Given the description of an element on the screen output the (x, y) to click on. 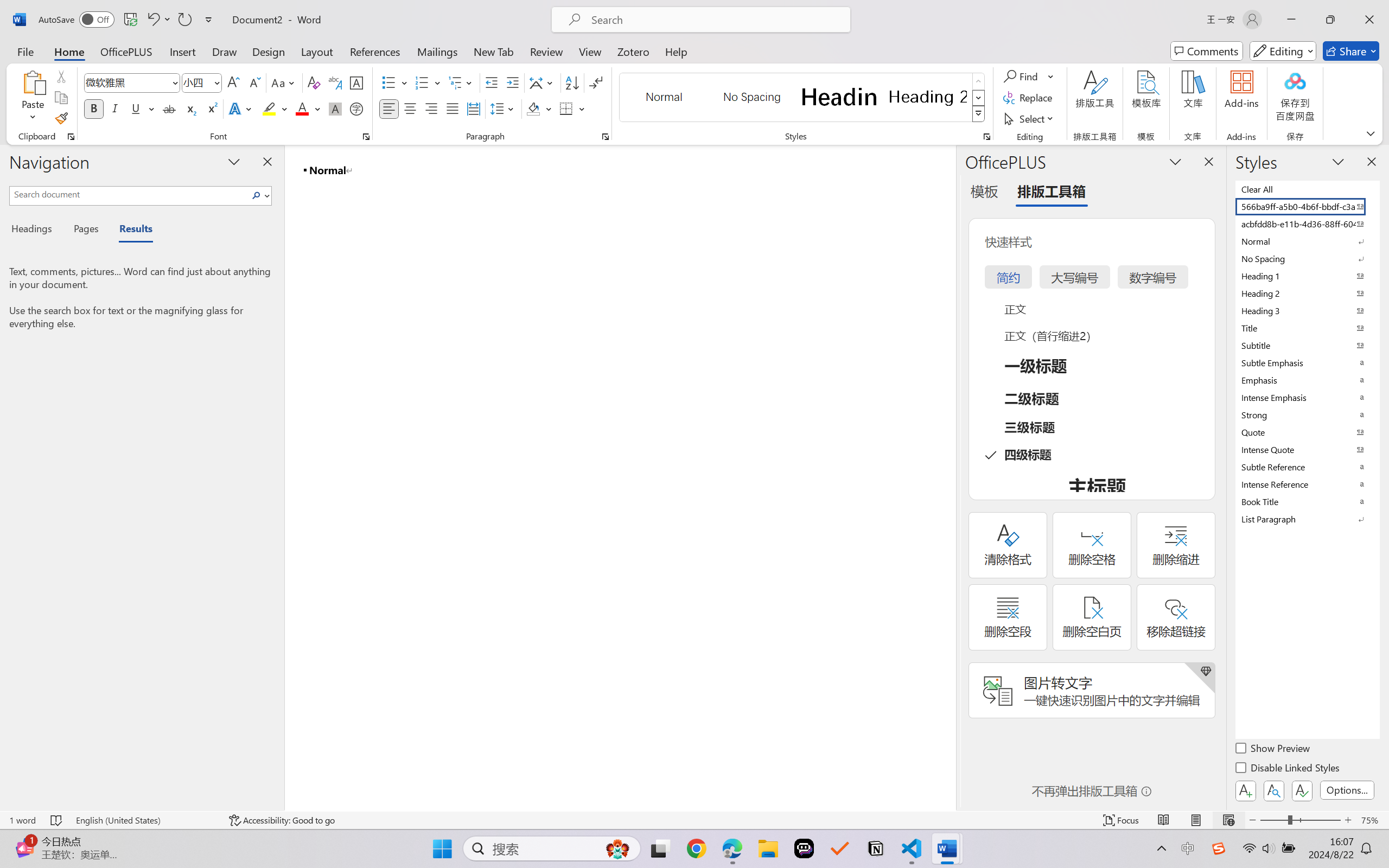
Microsoft search (715, 19)
Comments (1206, 50)
Styles (978, 113)
Office Clipboard... (70, 136)
Font (132, 82)
566ba9ff-a5b0-4b6f-bbdf-c3ab41993fc2 (1306, 206)
Bold (94, 108)
Text Highlight Color (274, 108)
Quote (1306, 431)
Shrink Font (253, 82)
Multilevel List (461, 82)
Bullets (395, 82)
View (589, 51)
Italic (115, 108)
